Given the description of an element on the screen output the (x, y) to click on. 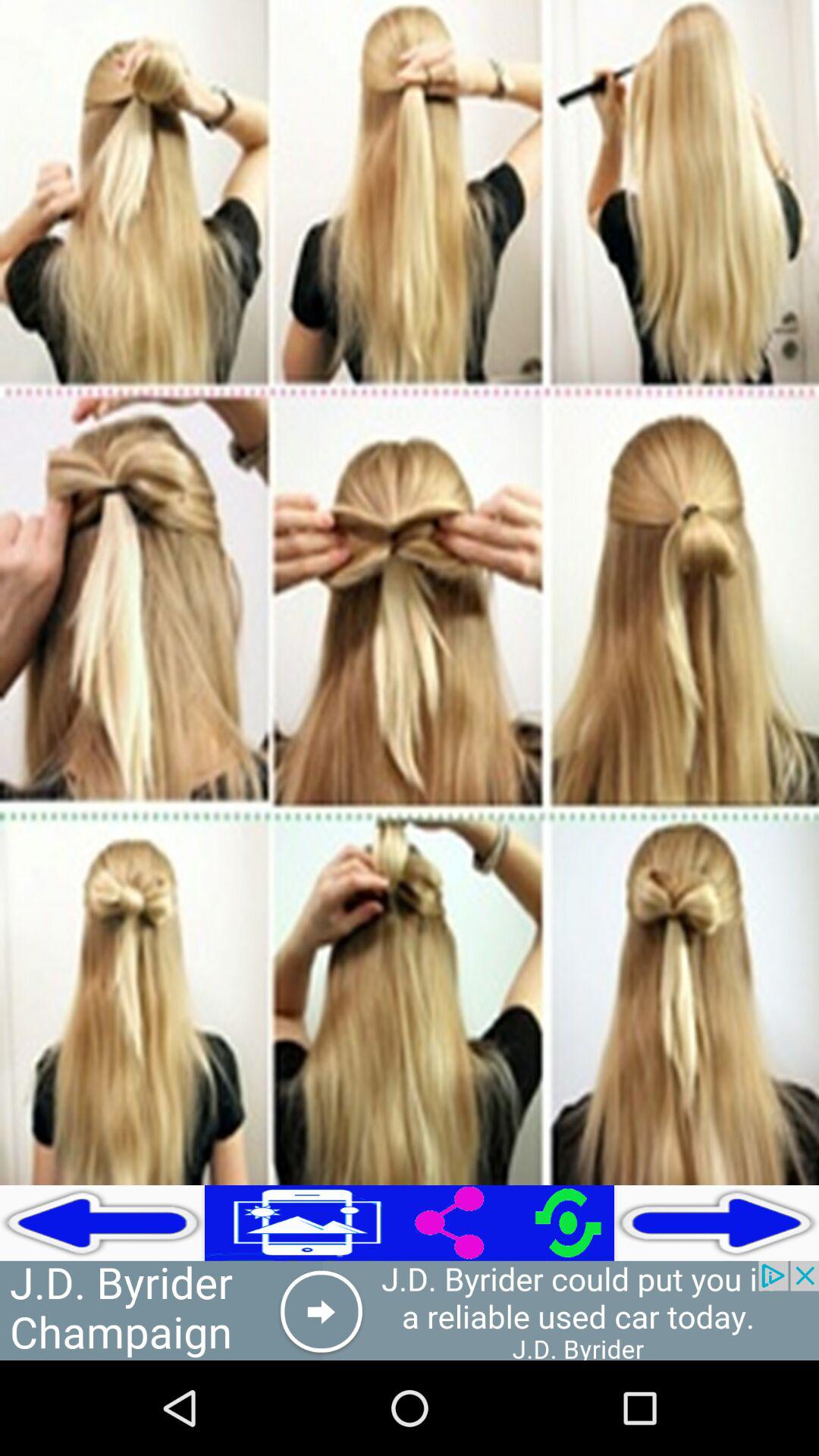
no idea (409, 1310)
